Given the description of an element on the screen output the (x, y) to click on. 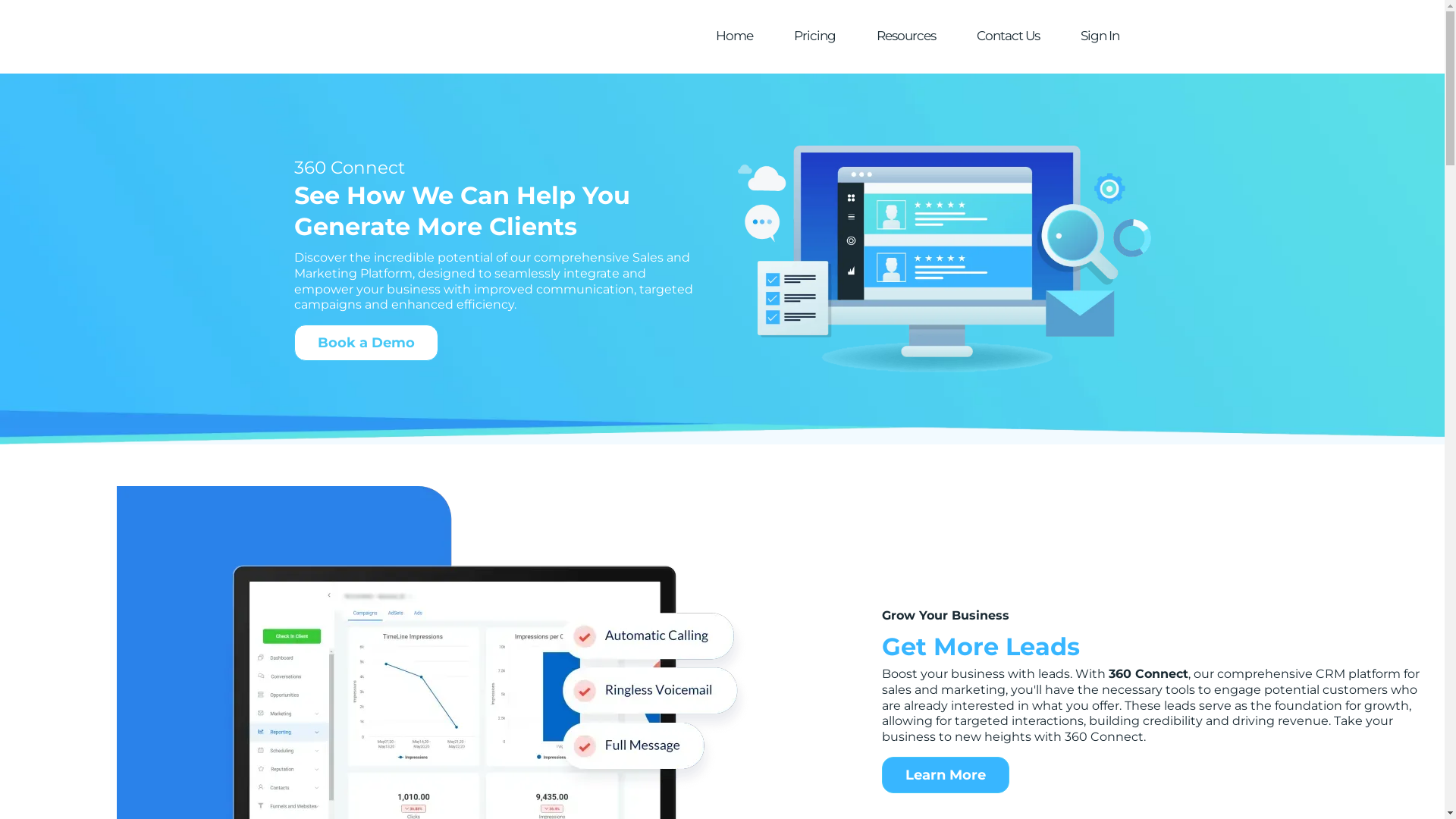
Home Element type: text (733, 35)
Contact Us Element type: text (1007, 35)
Learn More Element type: text (945, 774)
Pricing Element type: text (814, 35)
Resources Element type: text (905, 35)
Sign In Element type: text (1099, 35)
Book a Demo Element type: text (366, 342)
